Given the description of an element on the screen output the (x, y) to click on. 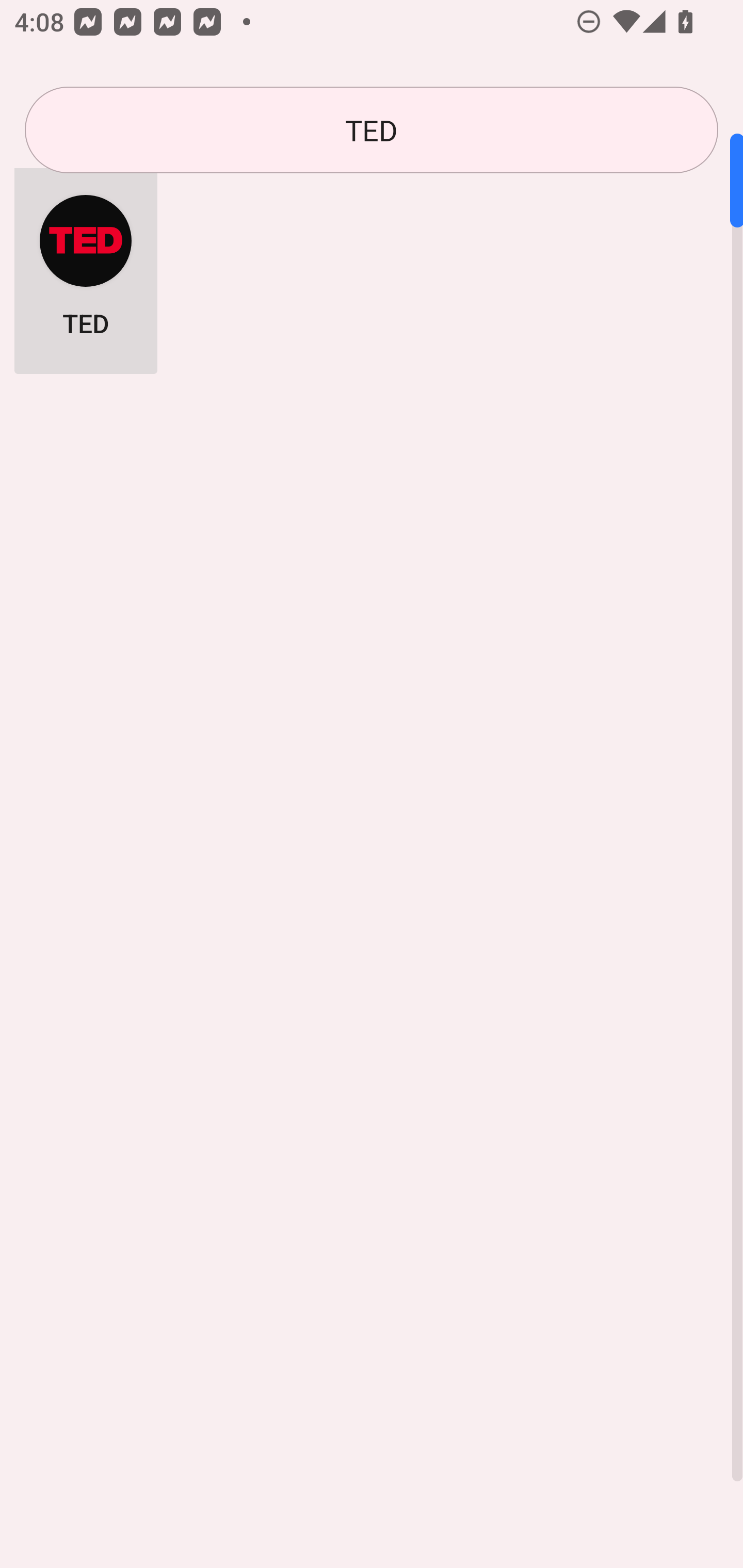
TED (371, 130)
TED (85, 264)
